Given the description of an element on the screen output the (x, y) to click on. 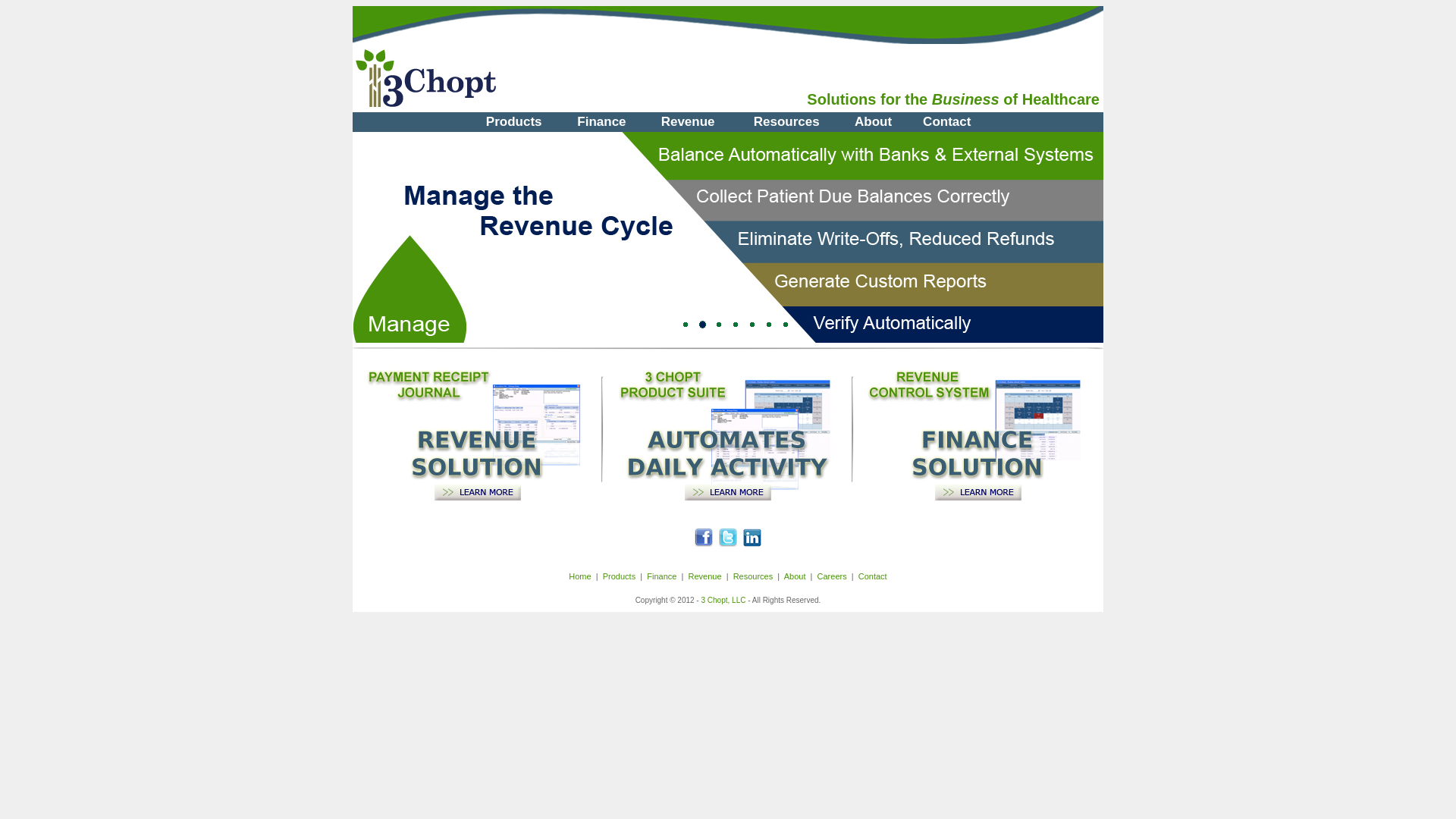
Home Element type: text (579, 575)
About Element type: text (873, 121)
Contact Element type: text (872, 575)
Contact Element type: text (947, 121)
3 Chopt Solutions Twitter Account Element type: hover (727, 542)
6 Element type: text (768, 324)
Finance Element type: text (601, 121)
3 Chopt Solutions Facebook Account Element type: hover (703, 542)
Finance Element type: text (661, 575)
2 Element type: text (701, 324)
Products Element type: text (618, 575)
3 Chopt, LLC Element type: text (722, 600)
7 Element type: text (785, 324)
4 Element type: text (735, 324)
Resources Element type: text (753, 575)
Revenue Element type: text (687, 121)
3 Chopt Solutions Company Linkedin Account Element type: hover (752, 542)
1 Element type: text (685, 324)
Revenue Element type: text (704, 575)
Products Element type: text (514, 121)
5 Element type: text (751, 324)
3 Element type: text (718, 324)
Resources Element type: text (786, 121)
Careers Element type: text (832, 575)
About Element type: text (795, 575)
